Given the description of an element on the screen output the (x, y) to click on. 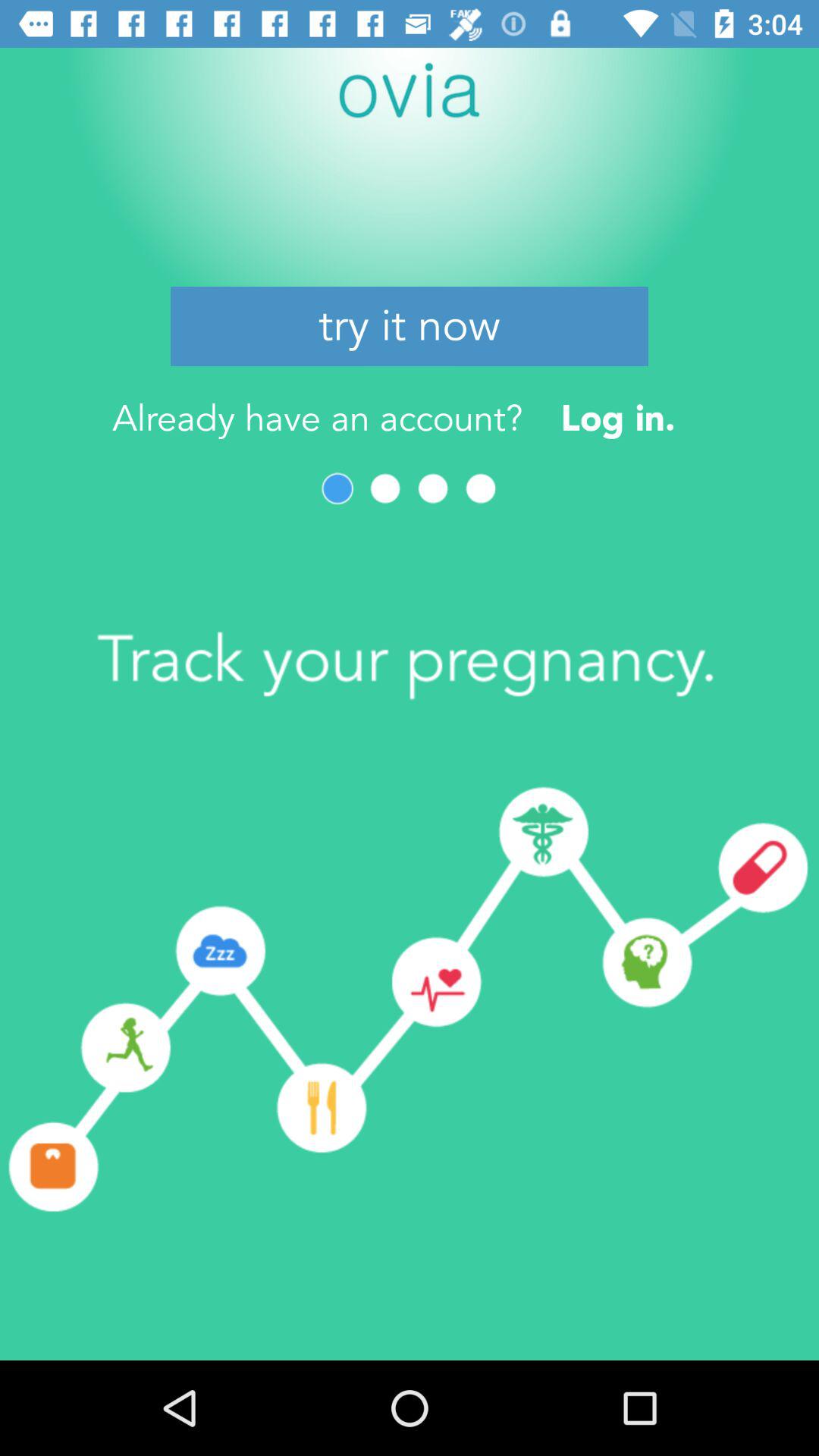
tap to view next screen (385, 488)
